Given the description of an element on the screen output the (x, y) to click on. 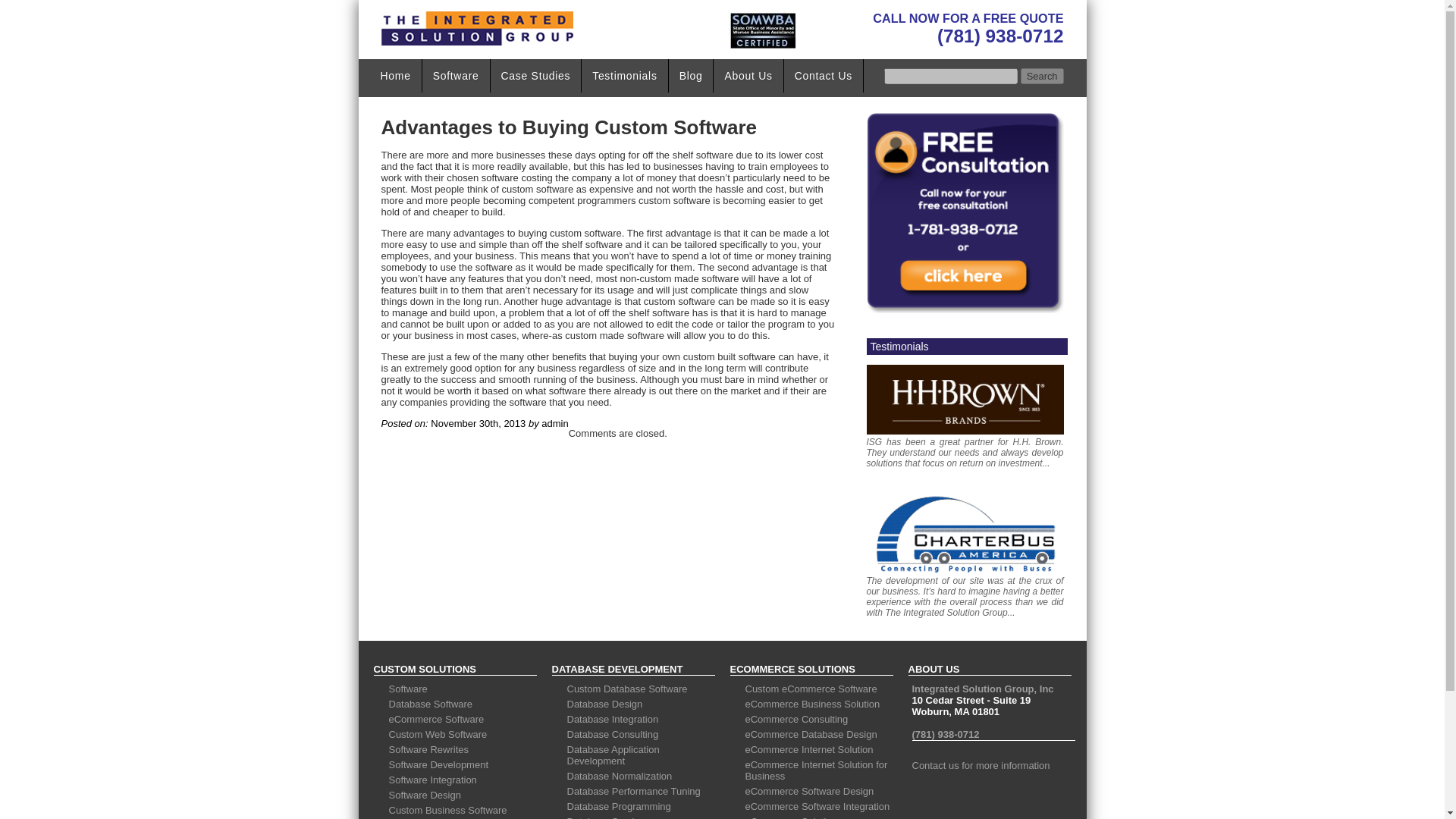
Database Normalization (619, 776)
eCommerce Software (435, 718)
Contact Us (823, 75)
Database Application Development (613, 754)
Software Integration (432, 779)
Custom Web Software (437, 734)
Software Development (437, 764)
Custom Database Software (627, 688)
Database Normalization (619, 776)
Custom Web Software (437, 734)
Database Application Development (613, 754)
Database Consulting (613, 734)
Search (1042, 75)
Software Integration (432, 779)
Custom Business Software (447, 809)
